Given the description of an element on the screen output the (x, y) to click on. 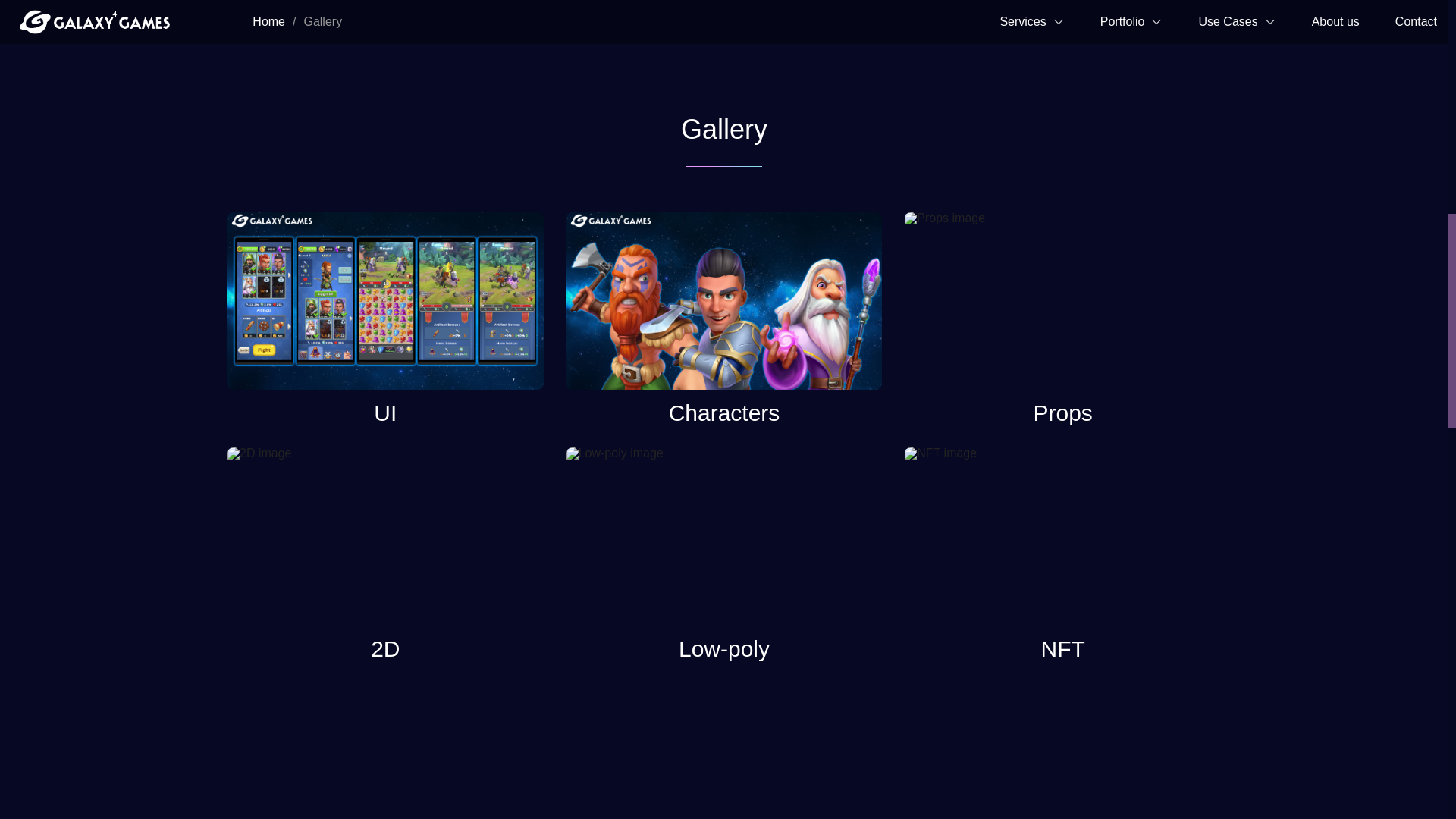
UI (385, 318)
